Given the description of an element on the screen output the (x, y) to click on. 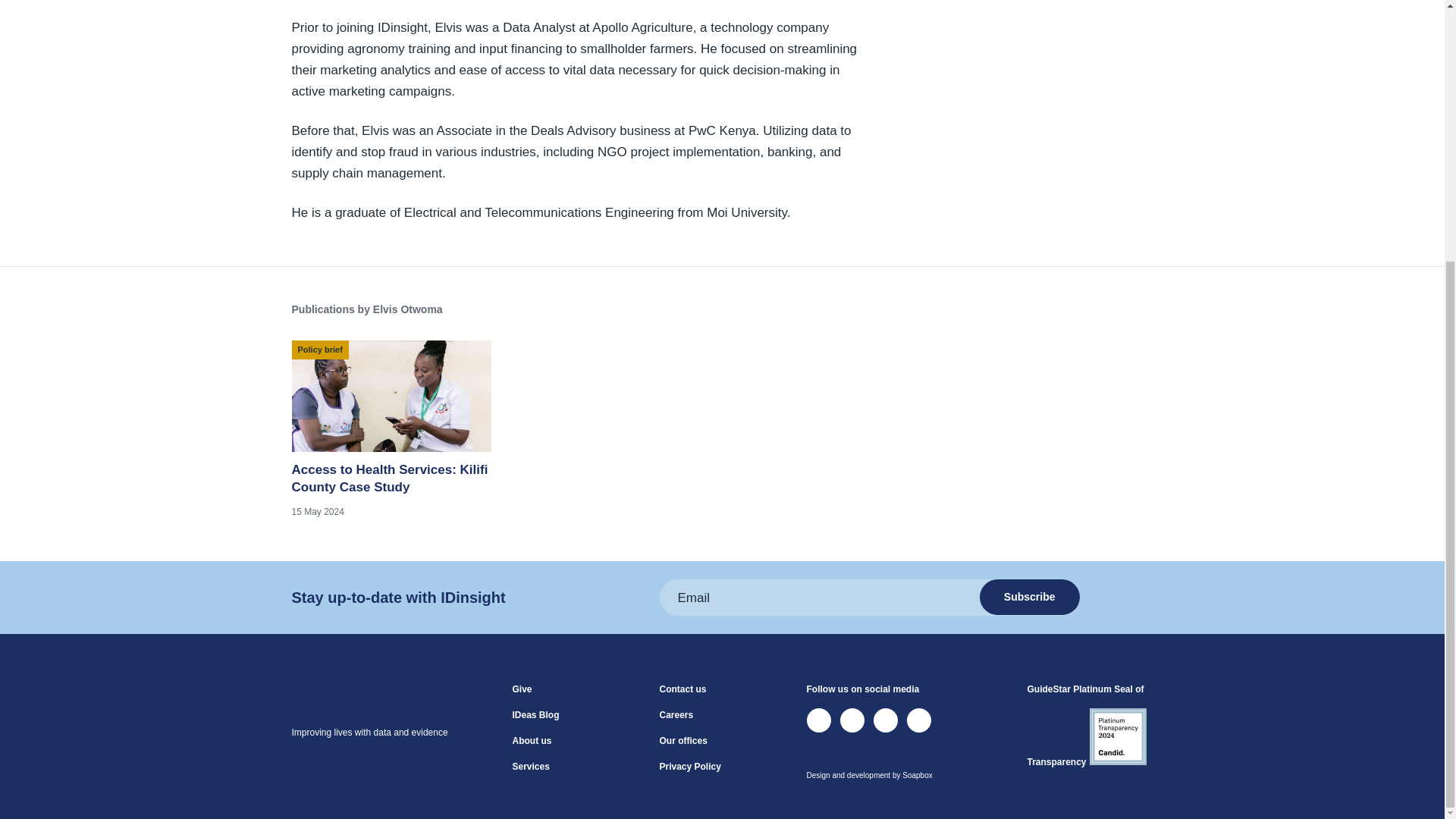
LinkedIn (852, 720)
Access to Health Services: Kilifi County Case Study (390, 429)
Instagram (919, 720)
Facebook (885, 720)
Twitter (818, 720)
Subscribe (1029, 597)
Go to homepage (352, 707)
